Given the description of an element on the screen output the (x, y) to click on. 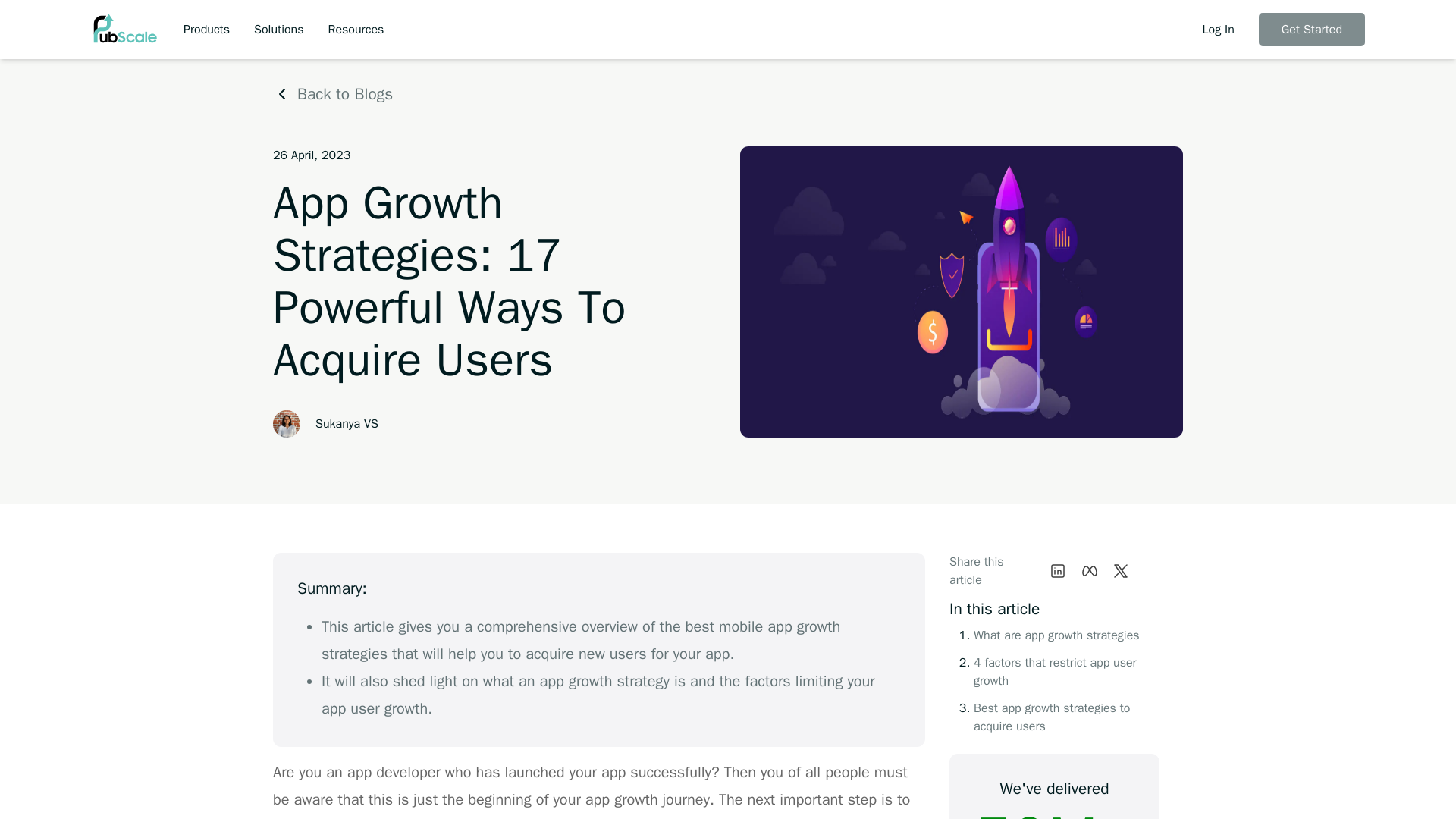
Sukanya VS (346, 423)
Back to Blogs (333, 94)
App Growth Strategies: 17 Powerful Ways To Acquire Users (960, 291)
Resources (356, 28)
Solutions (277, 28)
Get Started (1312, 28)
Sukanya VS (286, 423)
Products (206, 28)
Log In (1218, 28)
